Given the description of an element on the screen output the (x, y) to click on. 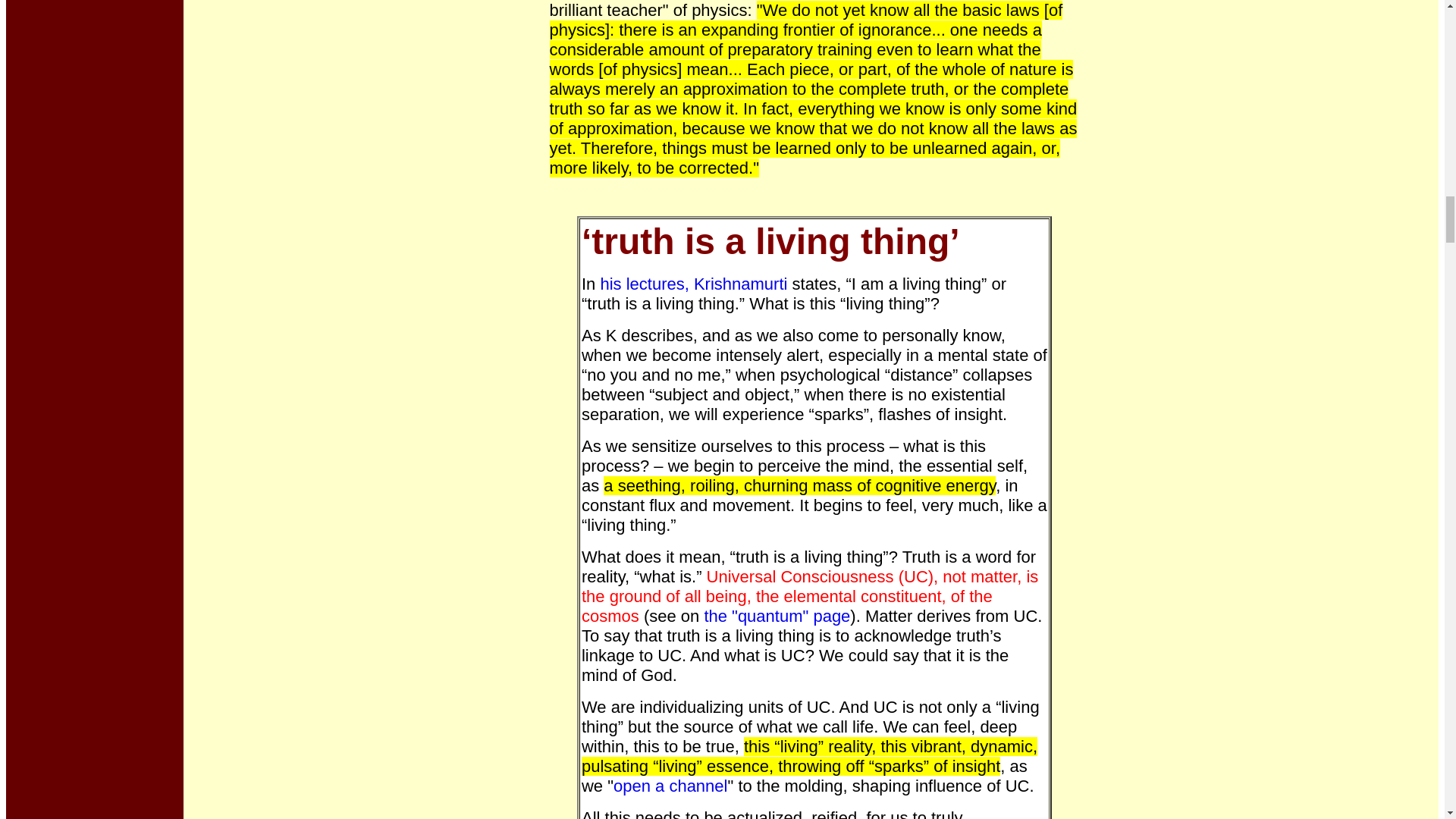
the "quantum" page (776, 615)
open a channel (669, 785)
his lectures, Krishnamurti (695, 283)
